Given the description of an element on the screen output the (x, y) to click on. 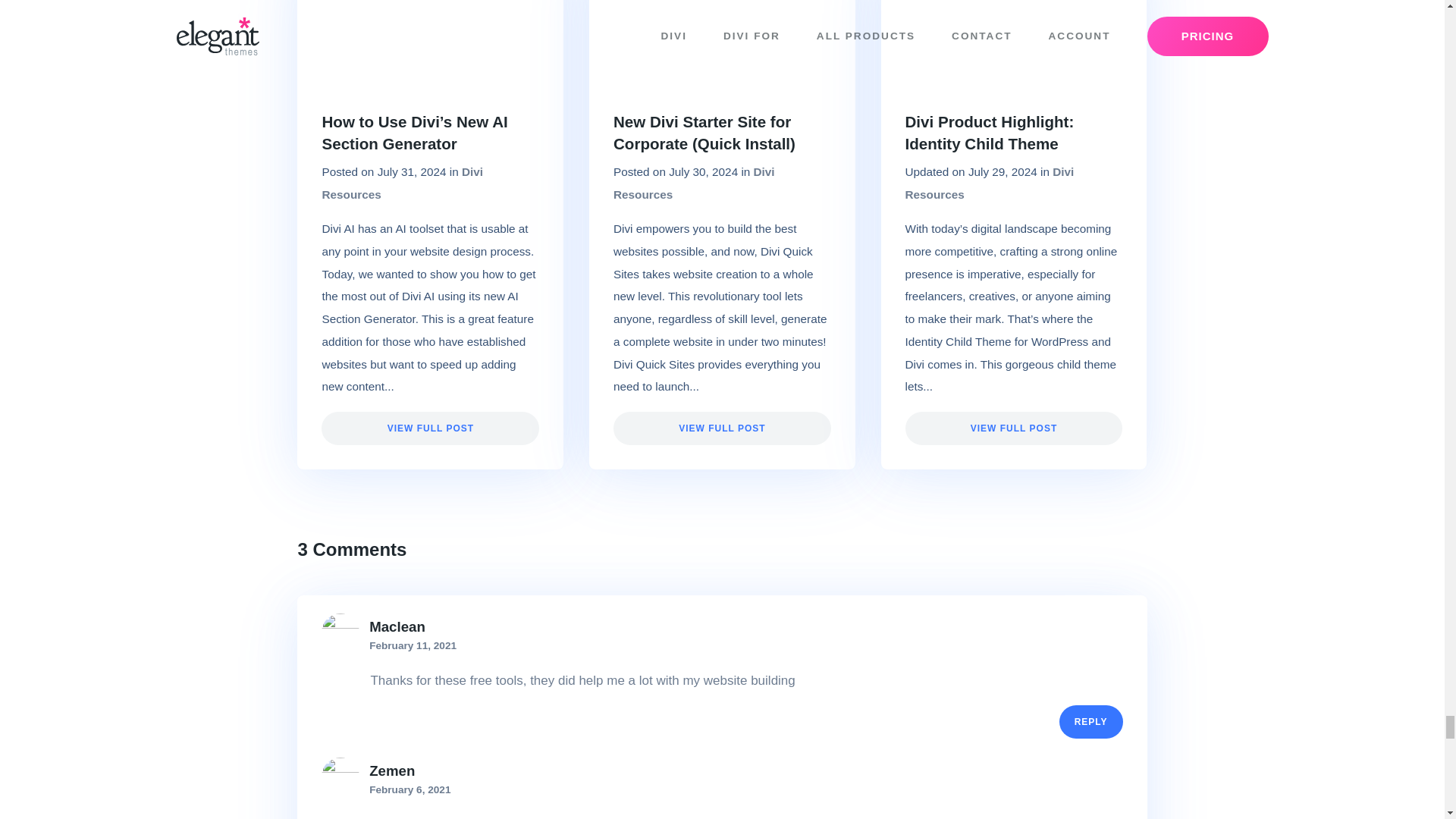
Link to Divi Product Highlight: Identity Child Theme (989, 132)
